Given the description of an element on the screen output the (x, y) to click on. 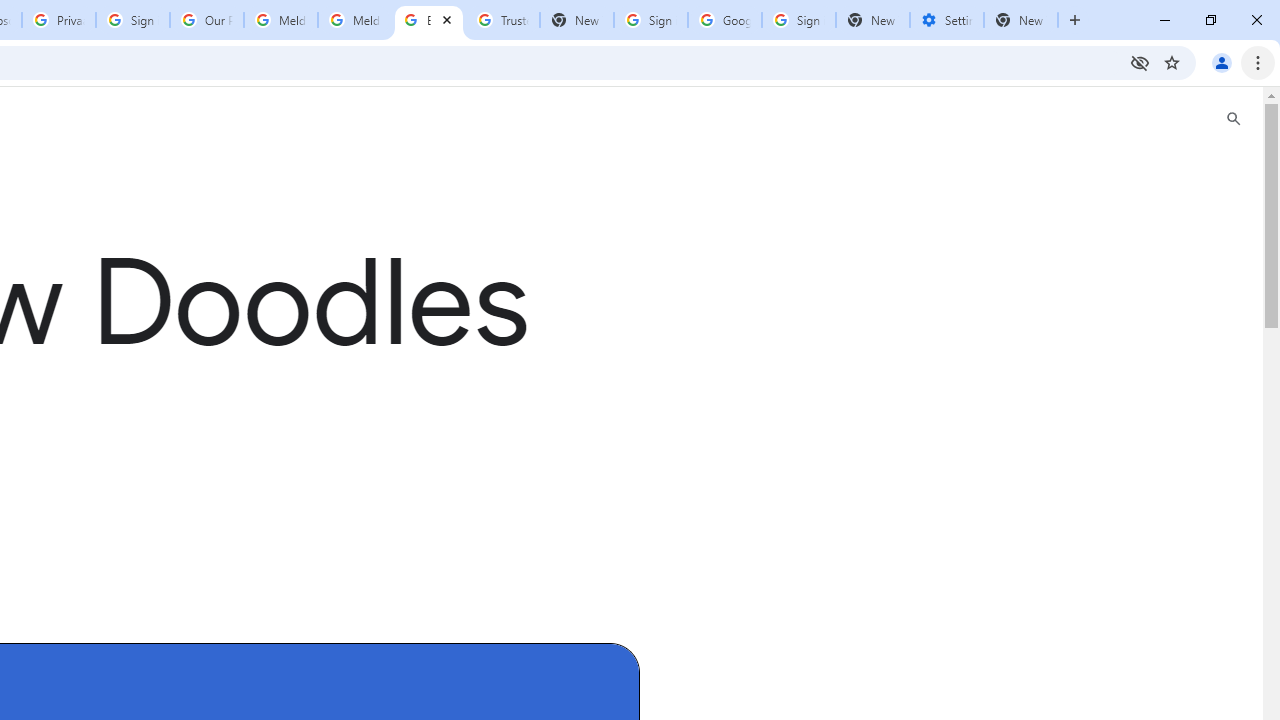
Sign in - Google Accounts (798, 20)
Google Cybersecurity Innovations - Google Safety Center (724, 20)
Sign in - Google Accounts (133, 20)
